Given the description of an element on the screen output the (x, y) to click on. 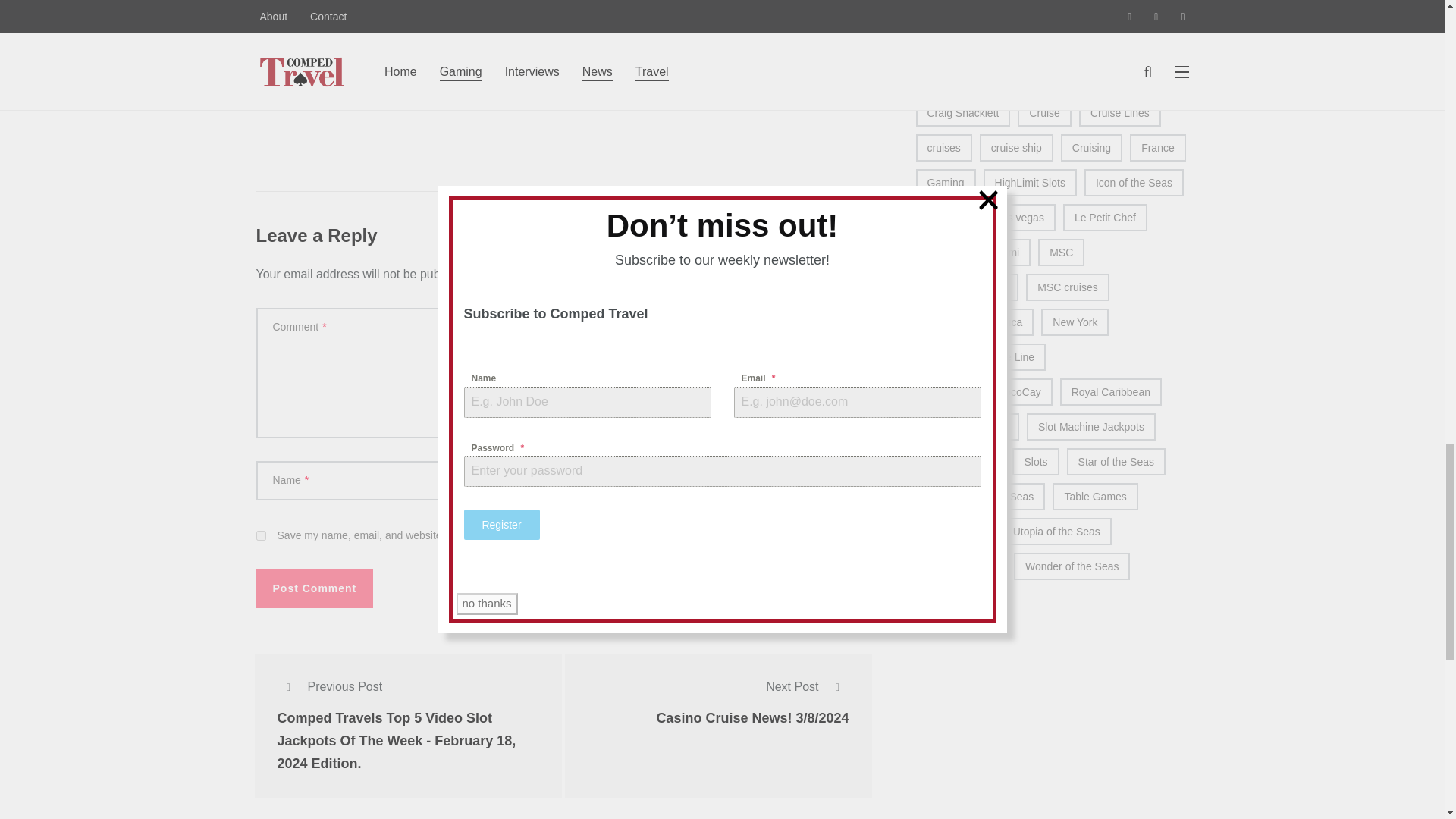
Post Comment (315, 588)
yes (261, 535)
